Given the description of an element on the screen output the (x, y) to click on. 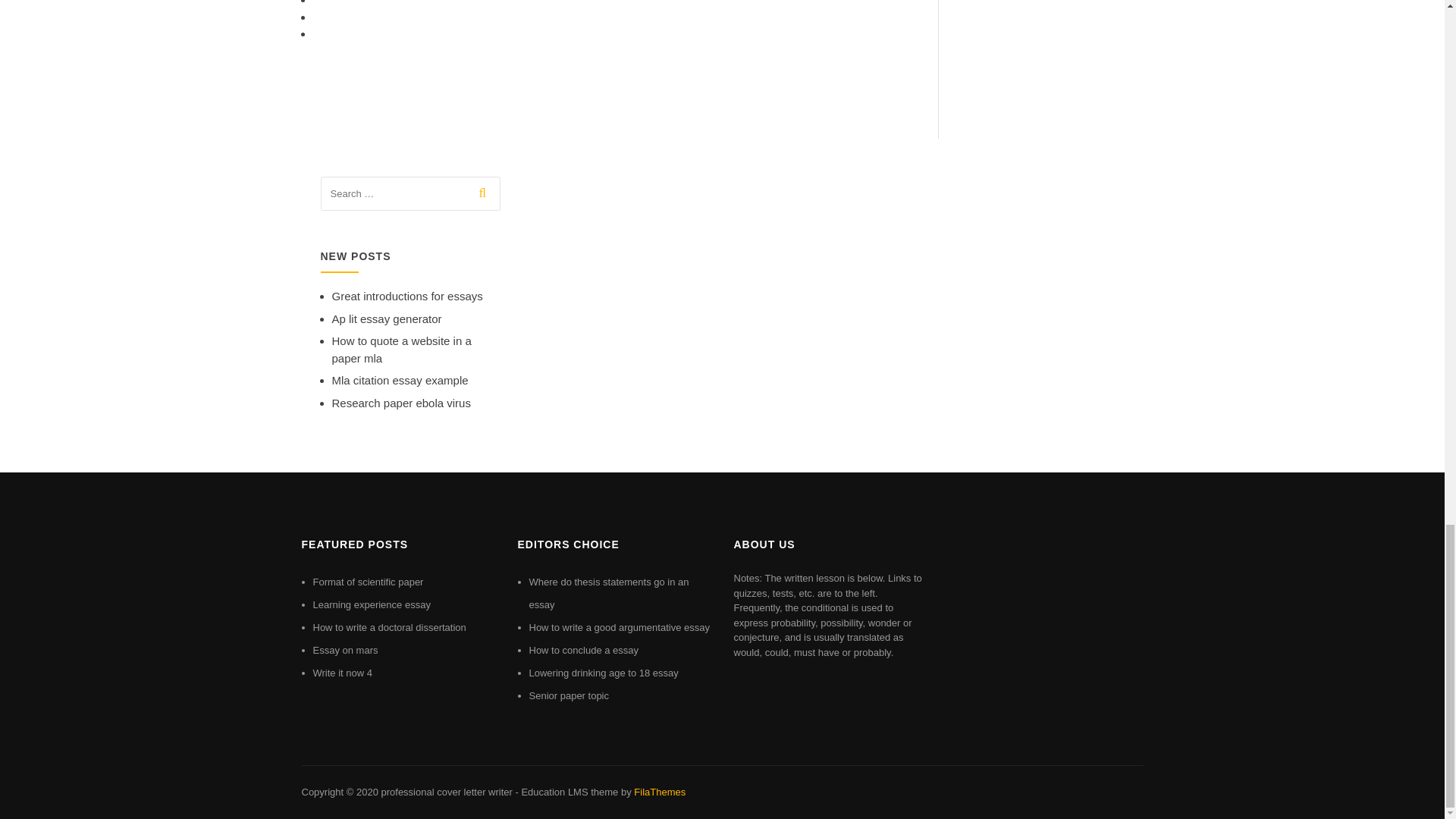
How to write a good argumentative essay (619, 627)
Ap lit essay generator (386, 318)
Great introductions for essays (407, 295)
Senior paper topic (569, 695)
Mla citation essay example (399, 379)
Research paper ebola virus (400, 402)
Essay on mars (345, 650)
Write it now 4 (342, 672)
How to quote a website in a paper mla (401, 349)
professional cover letter writer (446, 791)
How to write a doctoral dissertation (389, 627)
Learning experience essay (371, 604)
How to conclude a essay (584, 650)
Format of scientific paper (368, 582)
Where do thesis statements go in an essay (608, 593)
